Given the description of an element on the screen output the (x, y) to click on. 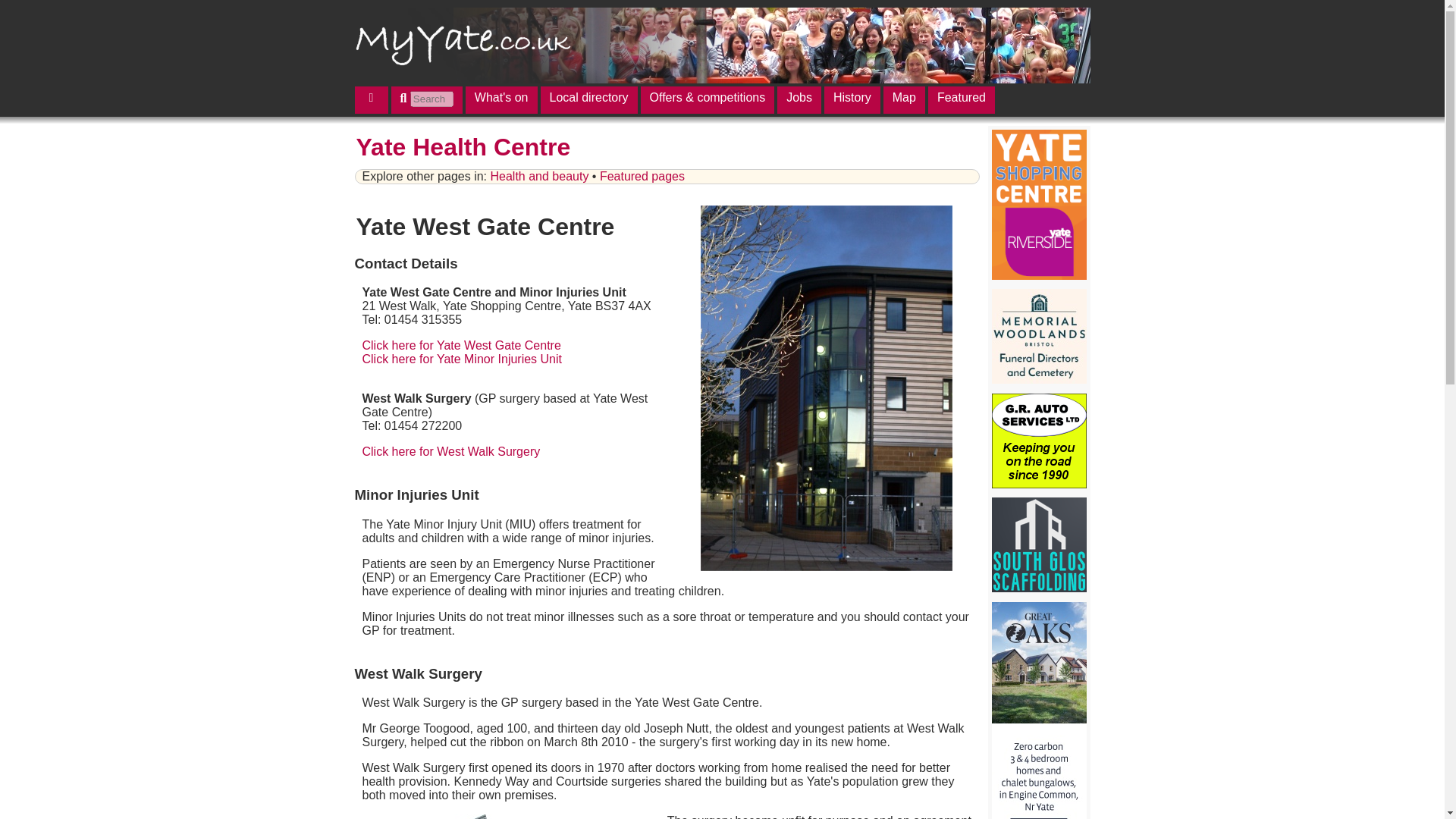
What's on (501, 99)
Click here for Yate Minor Injuries Unit (462, 358)
Health and beauty (538, 175)
Featured (961, 99)
Local directory (588, 99)
Click here for Yate West Gate Centre (461, 345)
Jobs (799, 99)
Search (21, 7)
Featured pages (641, 175)
Click here for West Walk Surgery (451, 451)
